Given the description of an element on the screen output the (x, y) to click on. 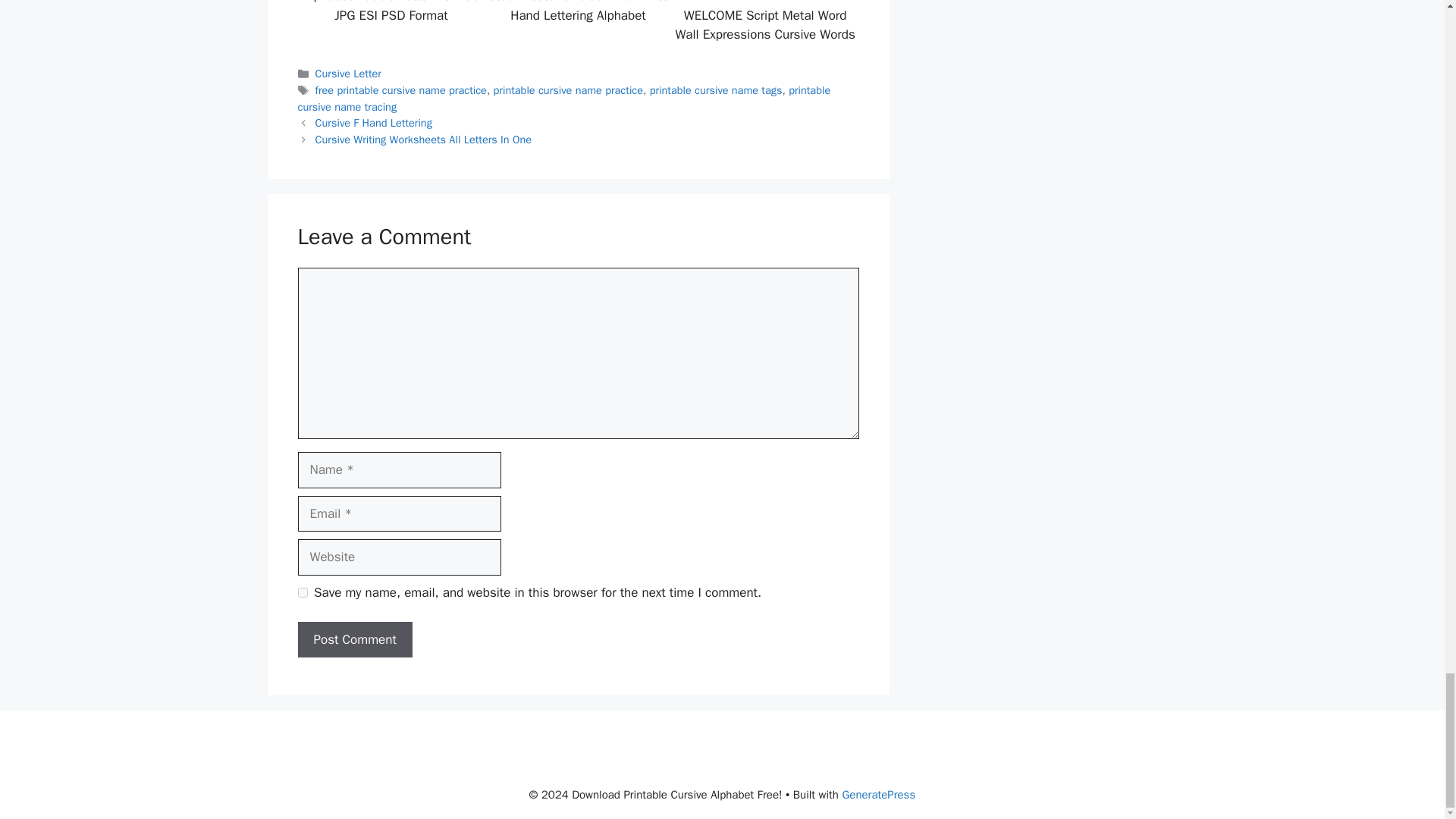
yes (302, 592)
free printable cursive name practice (400, 90)
Post Comment (354, 639)
printable cursive name tags (716, 90)
Cursive Writing Worksheets All Letters In One (423, 139)
printable cursive name tracing (563, 98)
GeneratePress (878, 794)
Cursive Letter (348, 73)
printable cursive name practice (568, 90)
Post Comment (354, 639)
Cursive F Hand Lettering (373, 122)
